Given the description of an element on the screen output the (x, y) to click on. 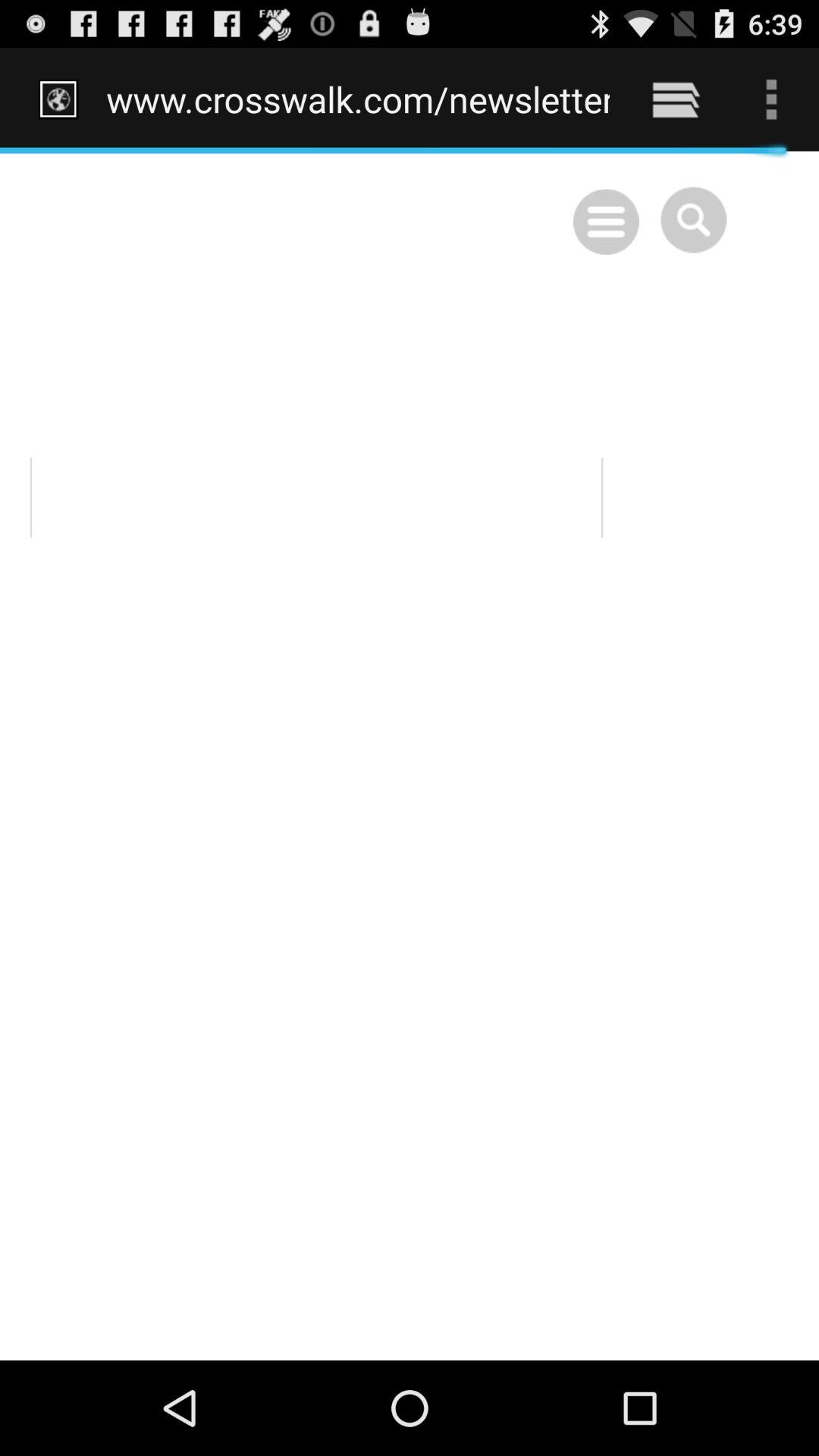
swipe until www crosswalk com (357, 99)
